Given the description of an element on the screen output the (x, y) to click on. 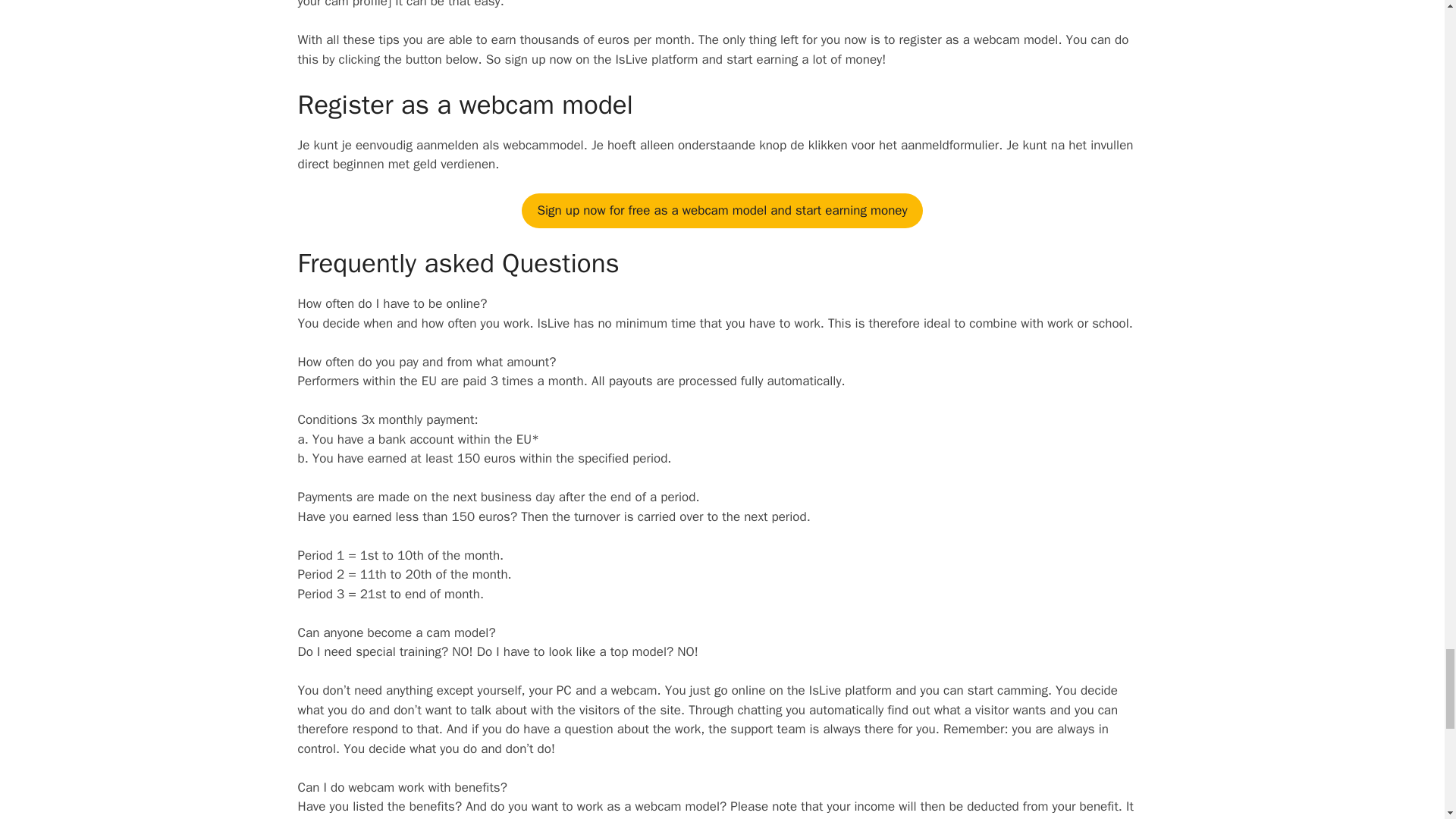
Become a webcam model (721, 210)
